Given the description of an element on the screen output the (x, y) to click on. 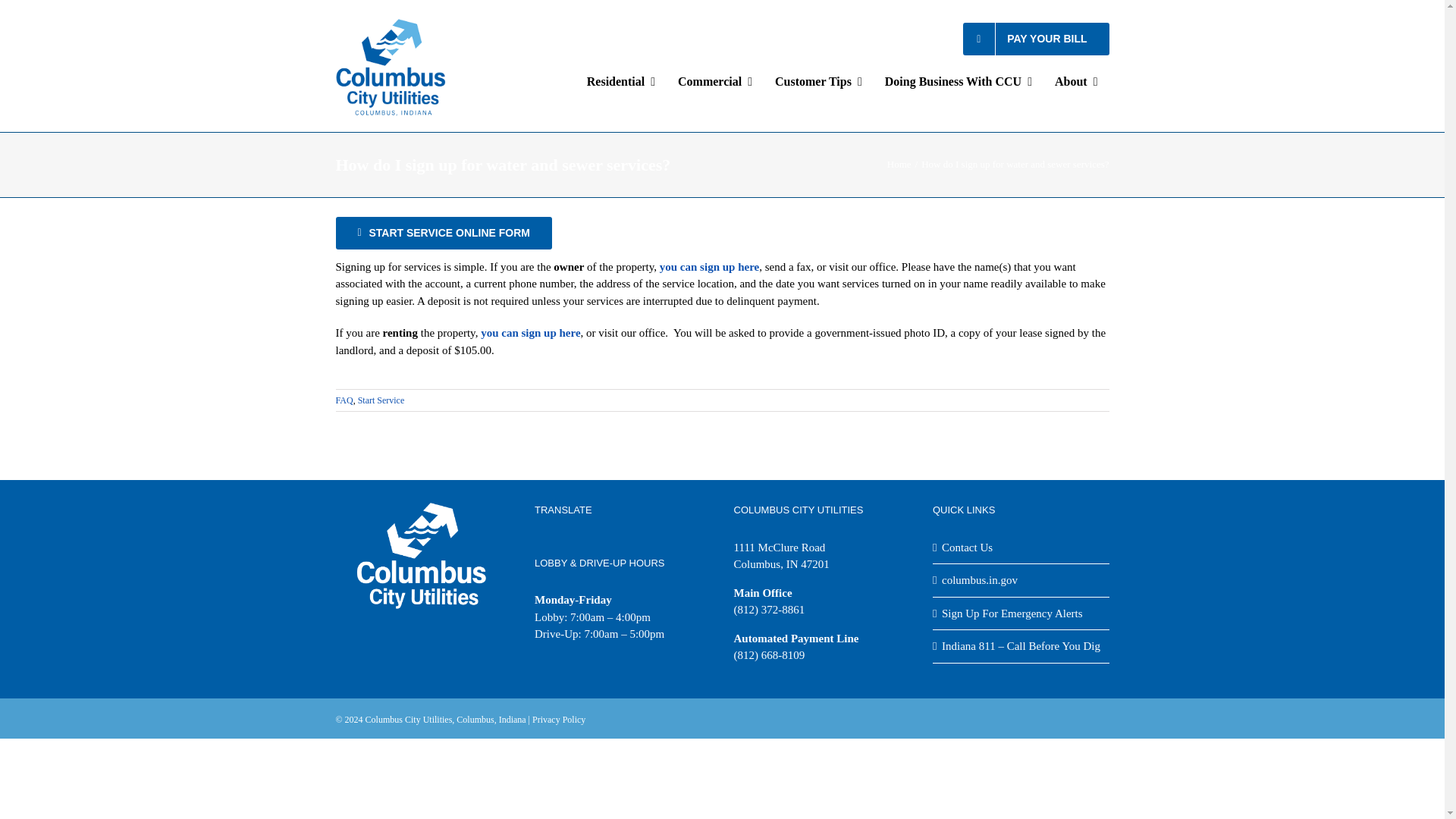
PAY YOUR BILL (1035, 38)
About (1076, 81)
Customer Tips (817, 81)
Residential (620, 81)
Doing Business With CCU (958, 81)
START SERVICE ONLINE FORM (442, 233)
Home (898, 163)
Commercial (714, 81)
